Given the description of an element on the screen output the (x, y) to click on. 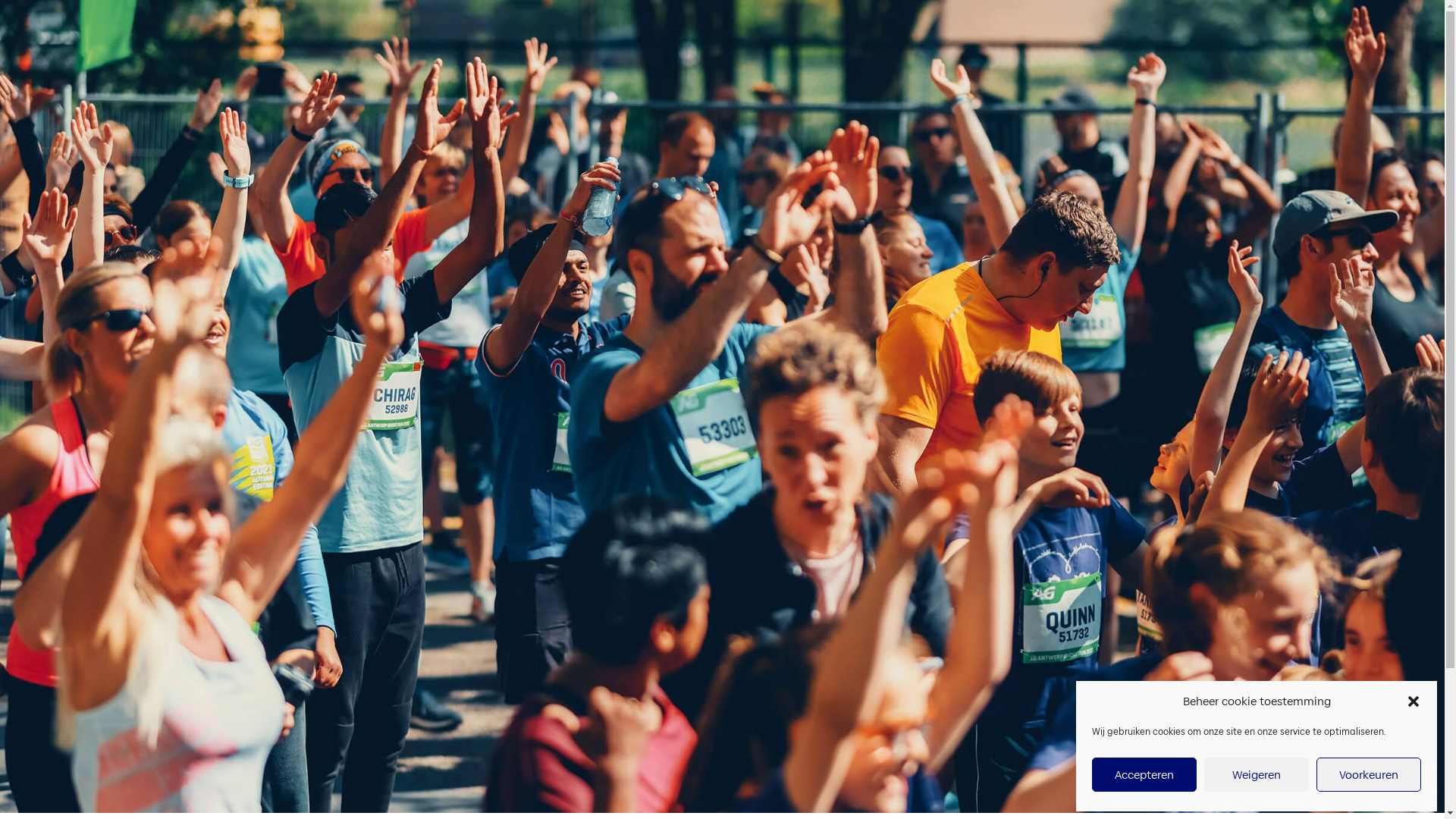
Voorkeuren Element type: text (1368, 774)
Accepteren Element type: text (1144, 774)
Weigeren Element type: text (1256, 774)
